Given the description of an element on the screen output the (x, y) to click on. 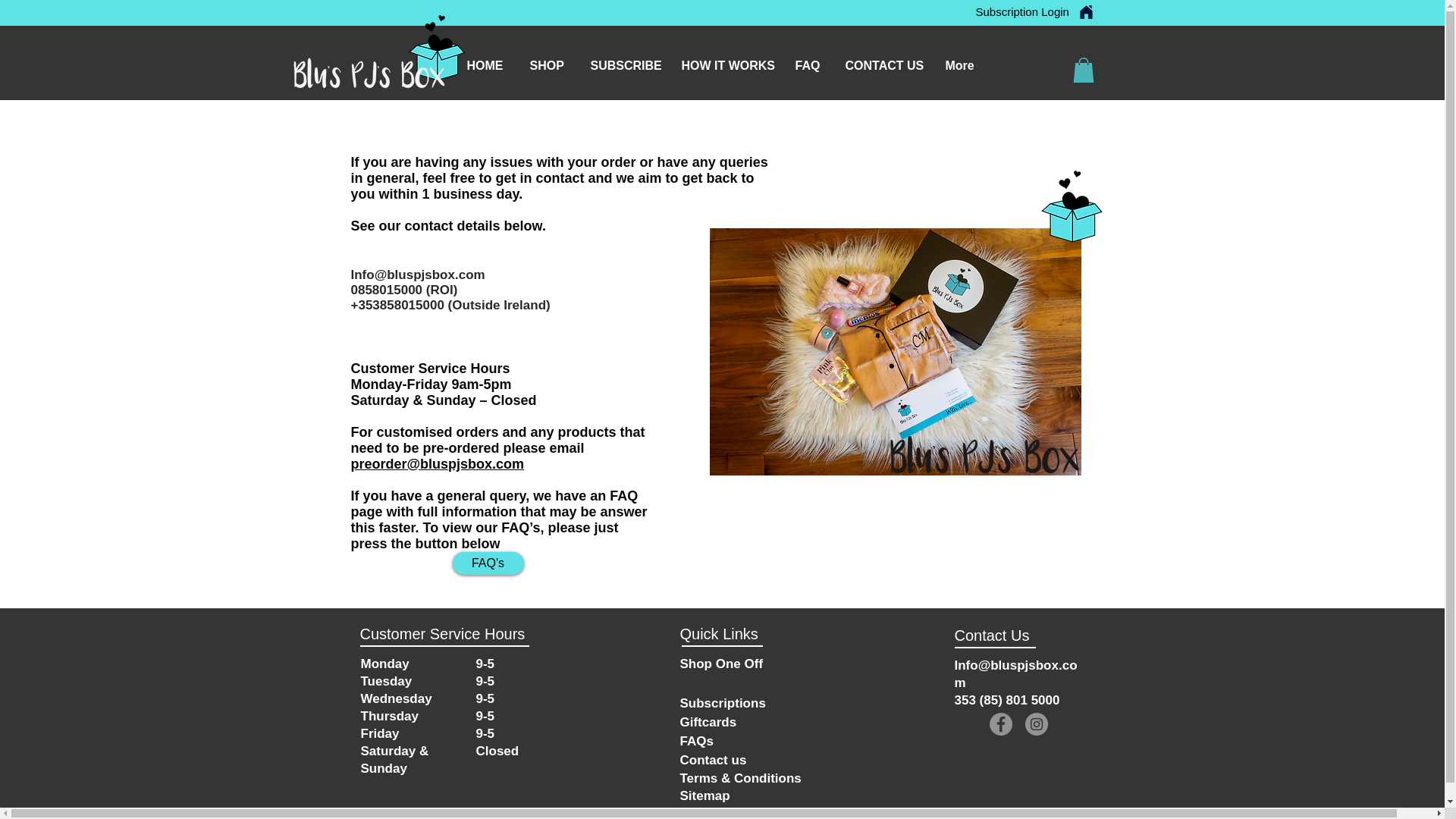
SUBSCRIBE (624, 65)
FAQ (809, 65)
HOME (486, 65)
SHOP (548, 65)
0858015000 (386, 289)
Sitemap (704, 794)
Subscriptions (722, 701)
FAQs (696, 740)
CONTACT US (884, 65)
Contact us (712, 759)
Shop One Off (720, 662)
HOW IT WORKS (726, 65)
Subscription Login (1021, 11)
Giftcards (707, 720)
FAQ's (486, 563)
